Given the description of an element on the screen output the (x, y) to click on. 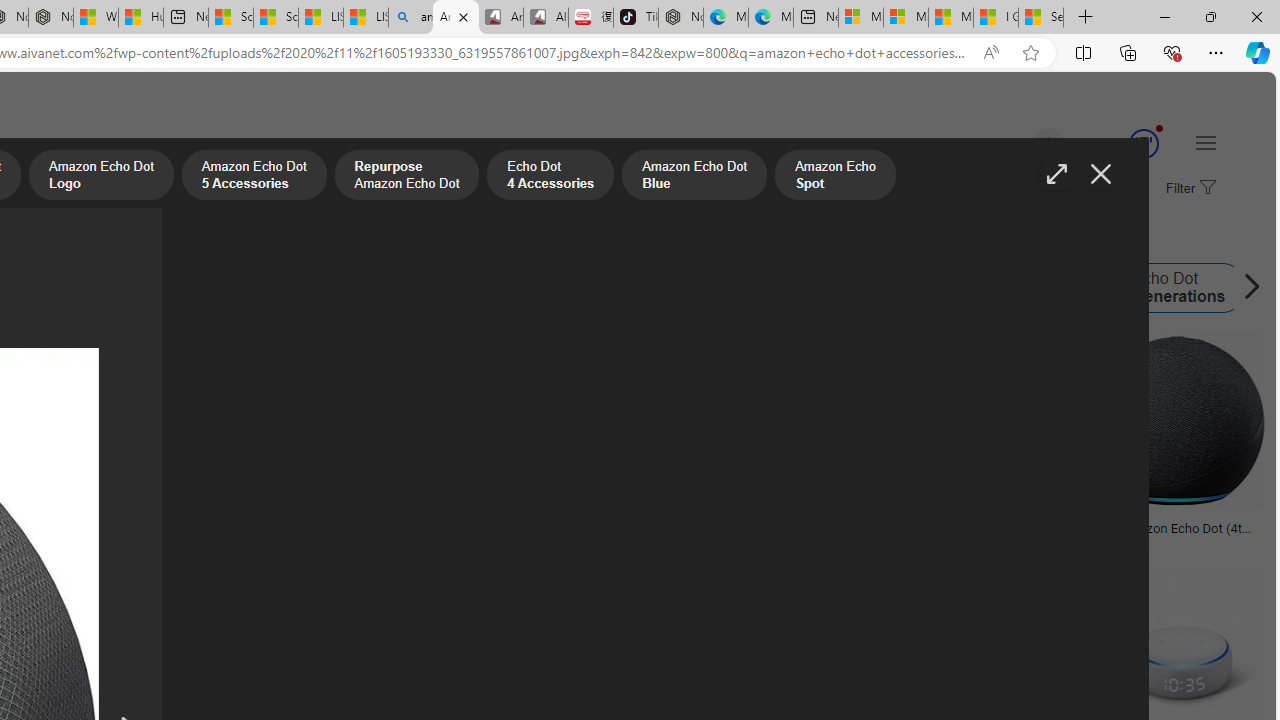
All Cubot phones (545, 17)
Class: item col (1161, 287)
Alexa Echo Png Pic Png Arts Images (342, 528)
Amazon Echo Dot Blue (693, 177)
Microsoft Start (950, 17)
Amazon Echo Spot (770, 287)
Nordace - Summer Adventures 2024 (50, 17)
Amazon Echo Dot Logo (314, 287)
croma.com (1176, 542)
